Given the description of an element on the screen output the (x, y) to click on. 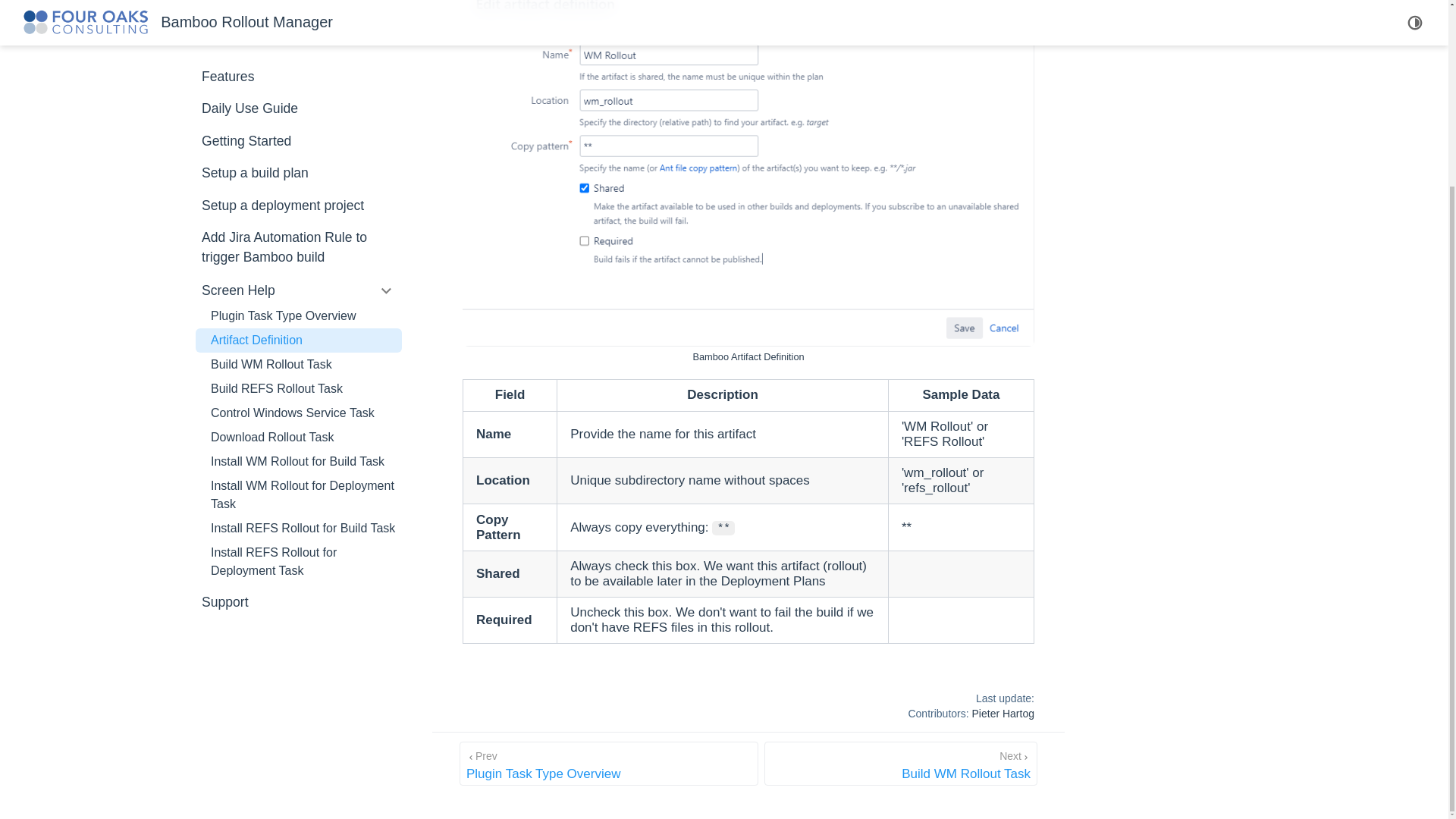
Download Rollout Task (298, 202)
Plugin Task Type Overview (298, 81)
Install REFS Rollout for Deployment Task (298, 327)
Build WM Rollout Task (298, 129)
Install REFS Rollout for Build Task (298, 293)
Build REFS Rollout Task (609, 763)
Add Jira Automation Rule to trigger Bamboo build (298, 154)
Control Windows Service Task (298, 18)
Screen Help (298, 178)
Support (298, 55)
Install WM Rollout for Deployment Task (298, 367)
Artifact Definition (298, 260)
Install WM Rollout for Build Task (298, 105)
